Given the description of an element on the screen output the (x, y) to click on. 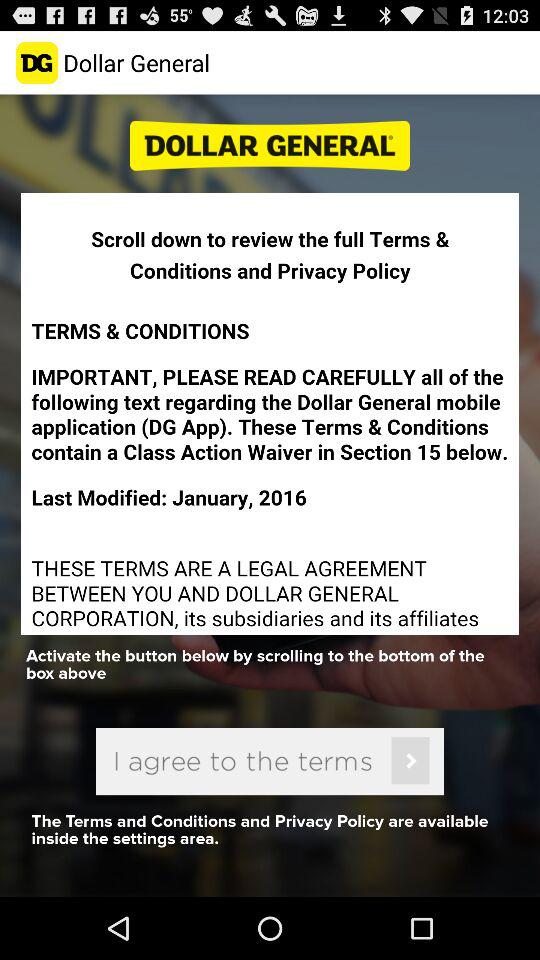
click to agree (270, 761)
